Given the description of an element on the screen output the (x, y) to click on. 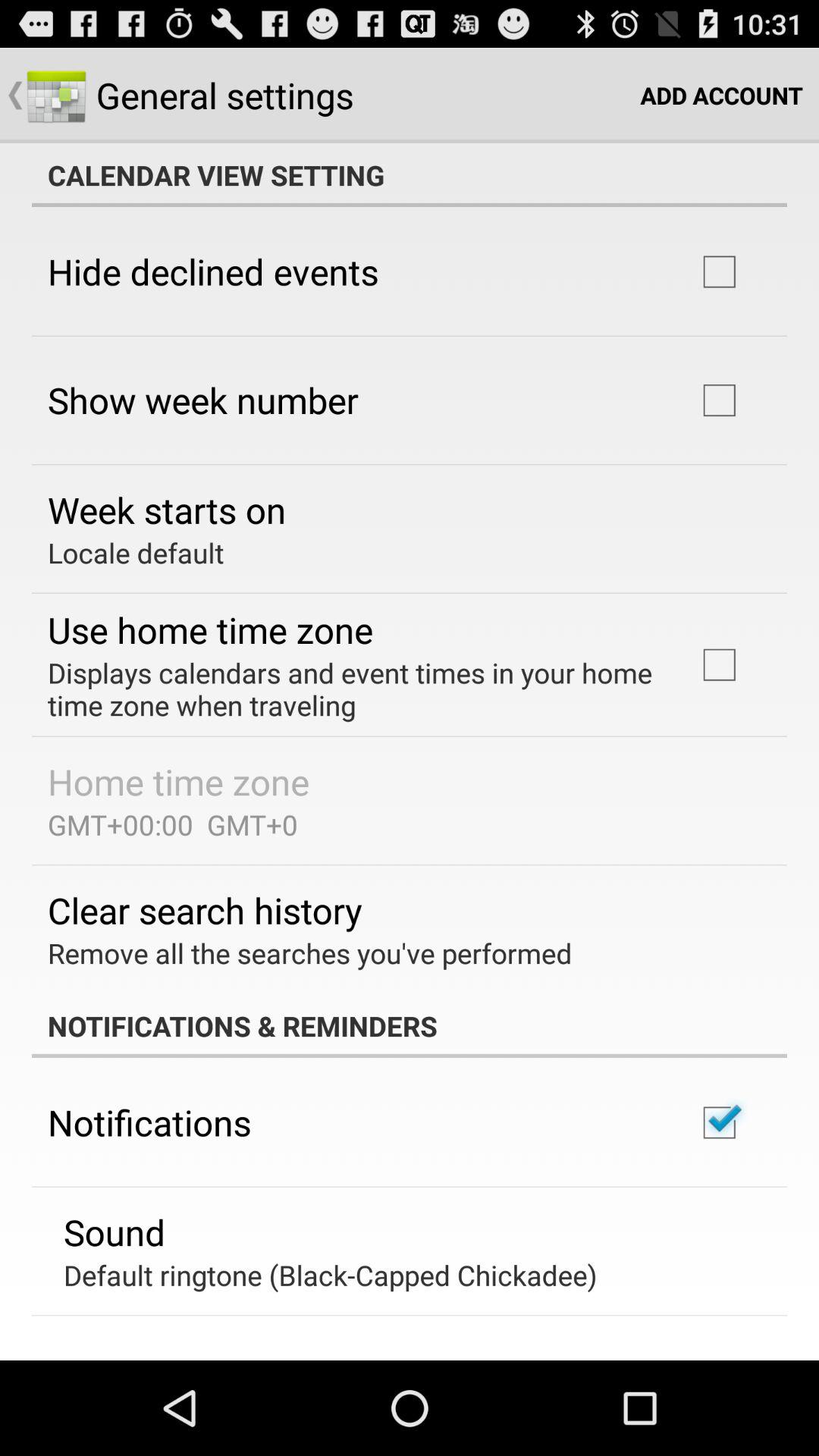
swipe until the default ringtone black item (330, 1274)
